Given the description of an element on the screen output the (x, y) to click on. 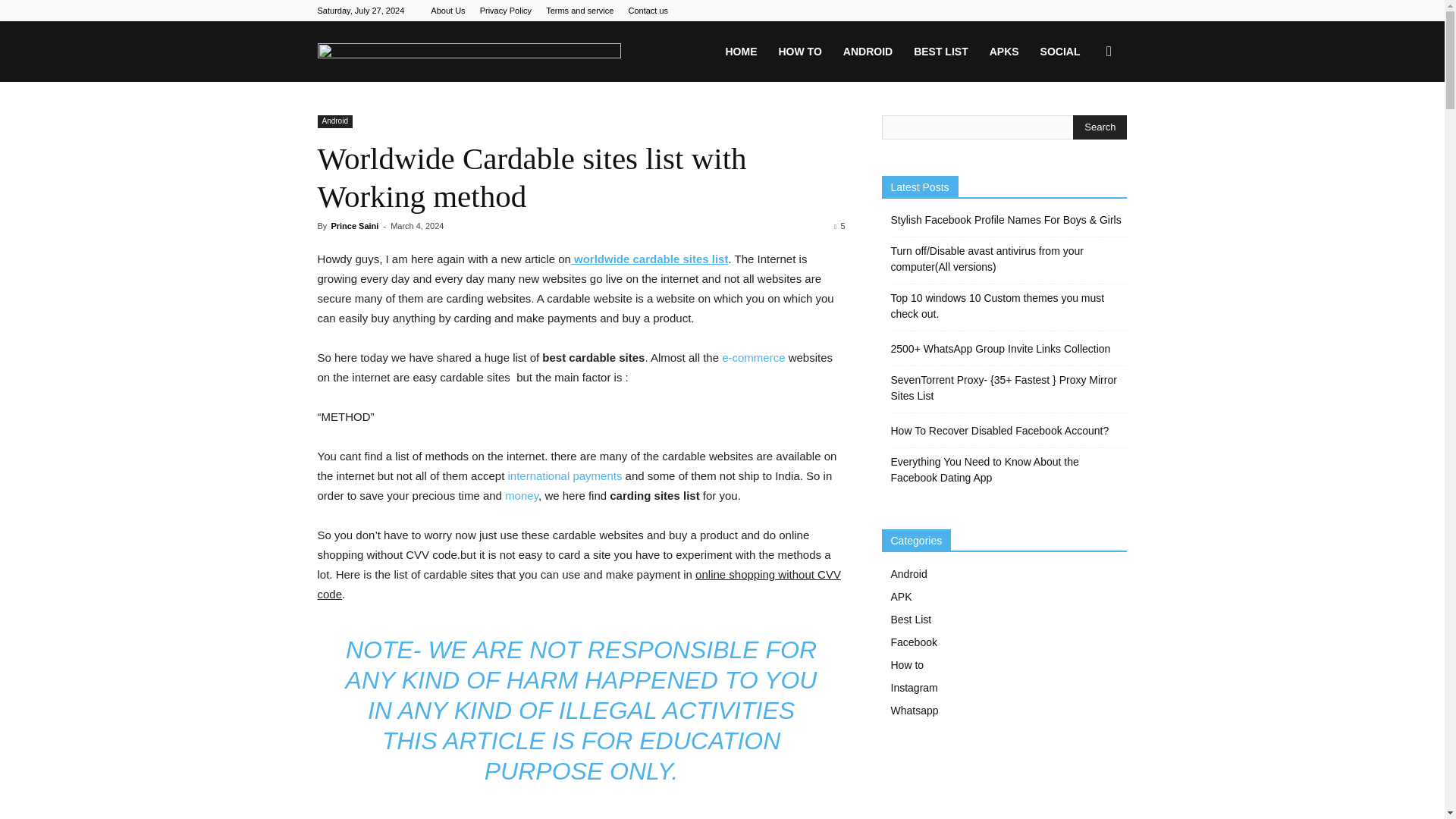
ANDROID (867, 51)
About Us (447, 10)
Contact us (647, 10)
Rapid Topic (468, 51)
HOW TO (799, 51)
Prince Saini (354, 225)
Search (1085, 124)
worldwide cardable sites list (649, 258)
Search (1099, 127)
e-commerce (753, 357)
SOCIAL (1059, 51)
Privacy Policy (505, 10)
5 (839, 225)
BEST LIST (940, 51)
Android (334, 121)
